Given the description of an element on the screen output the (x, y) to click on. 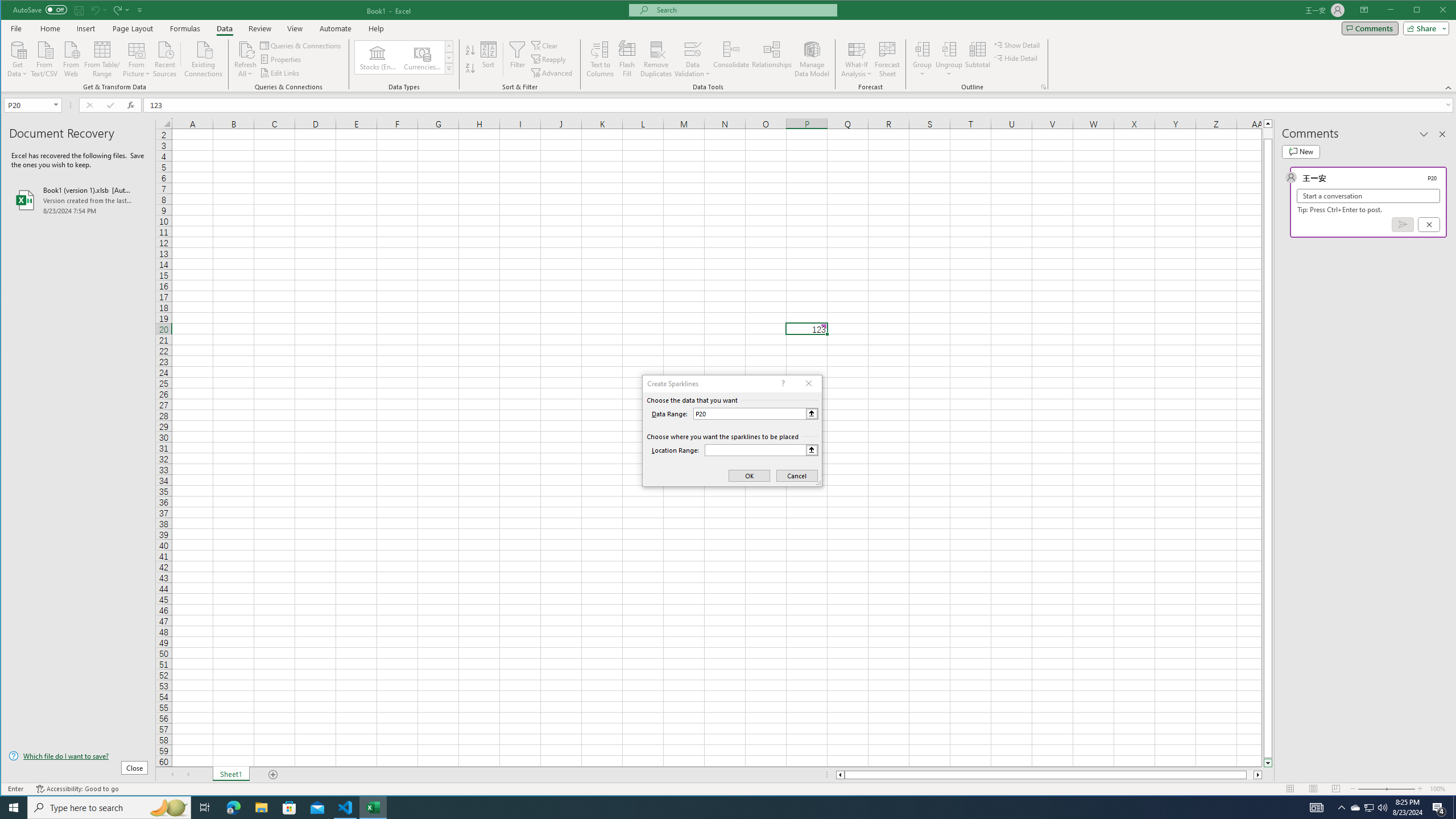
Maximize (1432, 11)
AutomationID: ConvertToLinkedEntity (403, 57)
What-If Analysis (856, 59)
Recent Sources (164, 57)
Filter (517, 59)
Properties (280, 59)
